Given the description of an element on the screen output the (x, y) to click on. 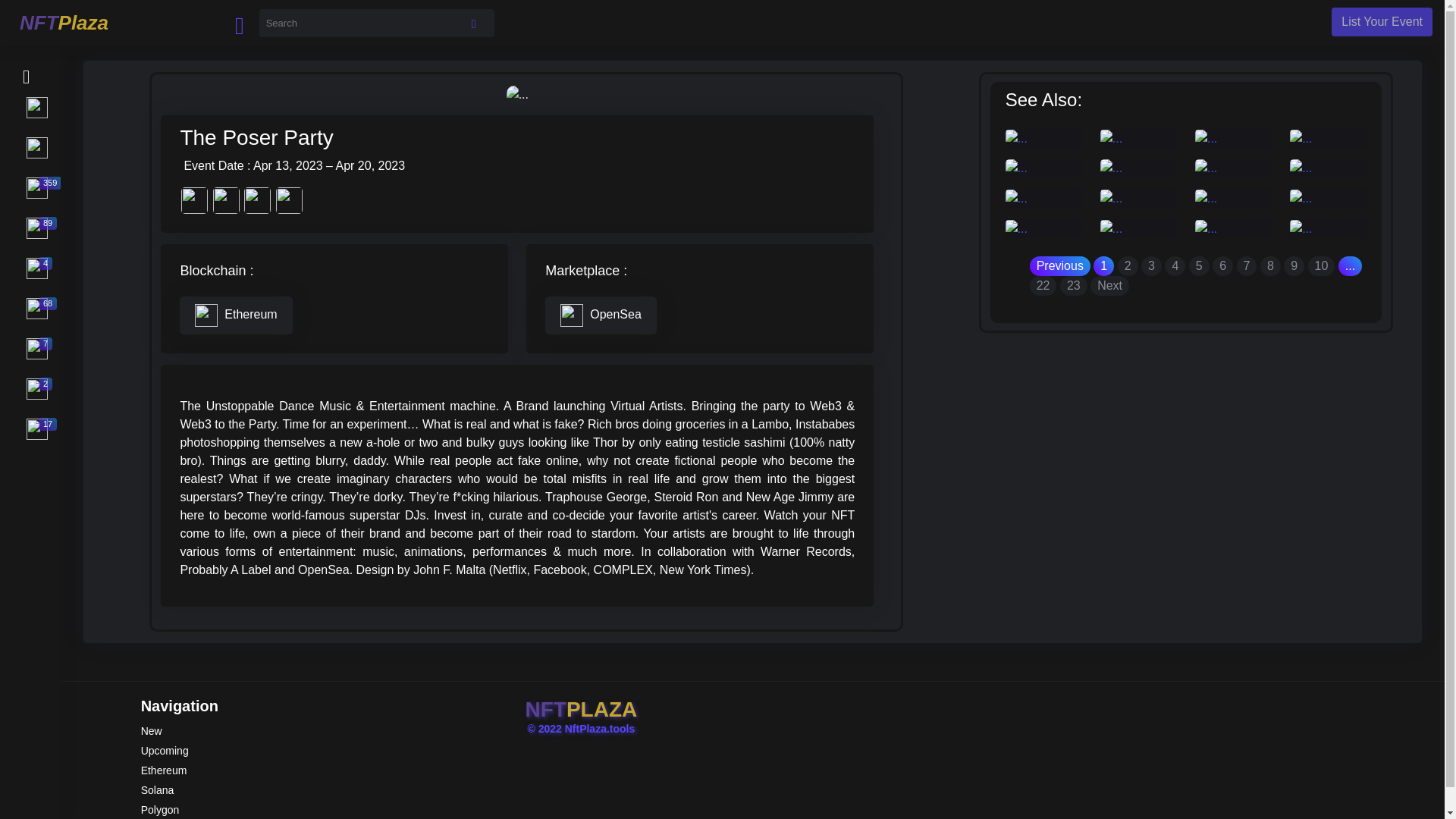
NFTPlaza (120, 22)
Twitter (226, 200)
Website (194, 200)
Marketplace (289, 200)
Enter search keyword (377, 22)
Discord (257, 200)
List Your Event (1375, 22)
List Your Event (1382, 21)
